Given the description of an element on the screen output the (x, y) to click on. 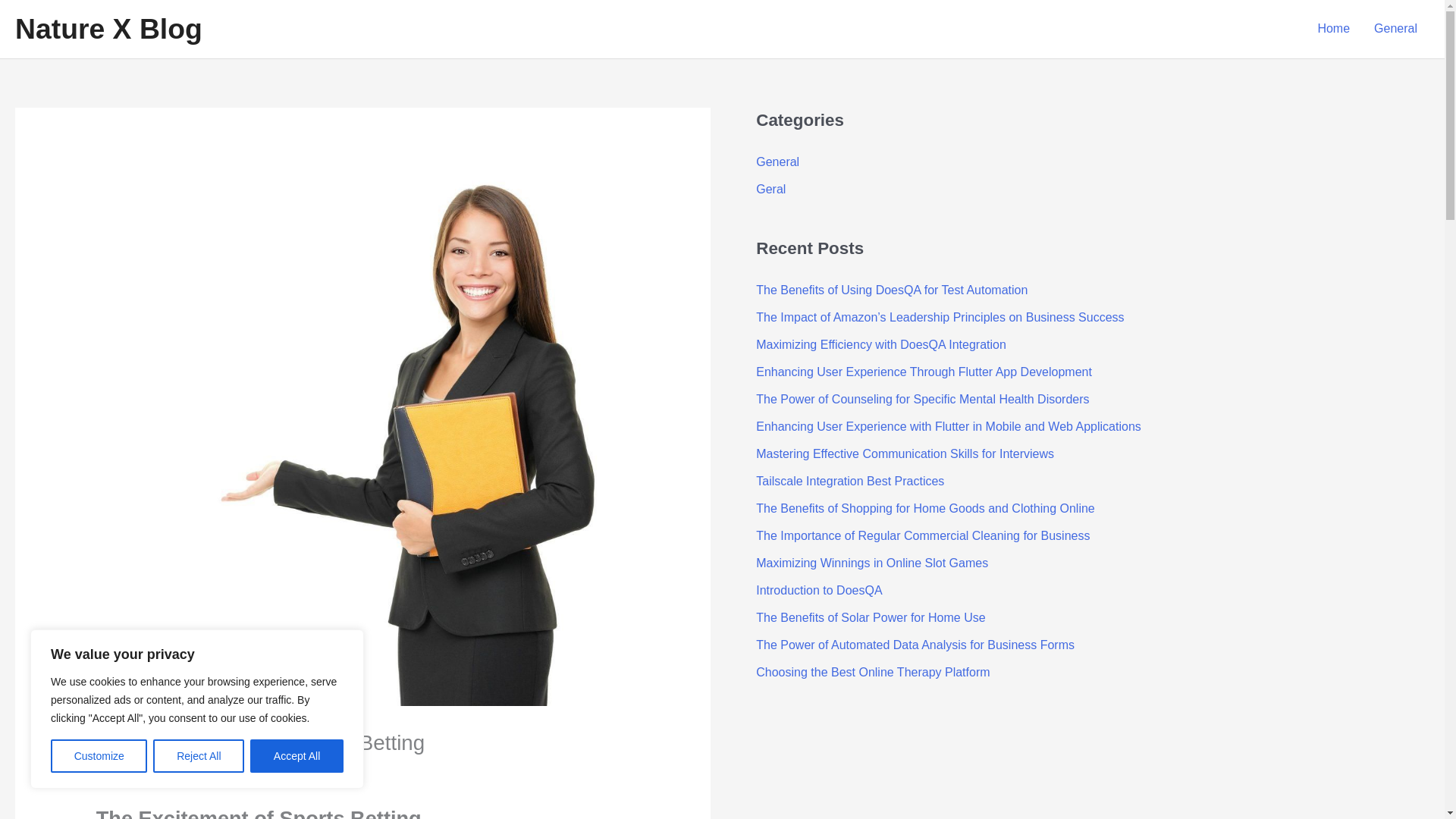
General (777, 161)
Geral (770, 188)
Customize (98, 756)
Accept All (296, 756)
The Benefits of Using DoesQA for Test Automation (891, 289)
Reject All (198, 756)
Maximizing Efficiency with DoesQA Integration (880, 344)
General (1395, 28)
General (125, 771)
Home (1332, 28)
